Given the description of an element on the screen output the (x, y) to click on. 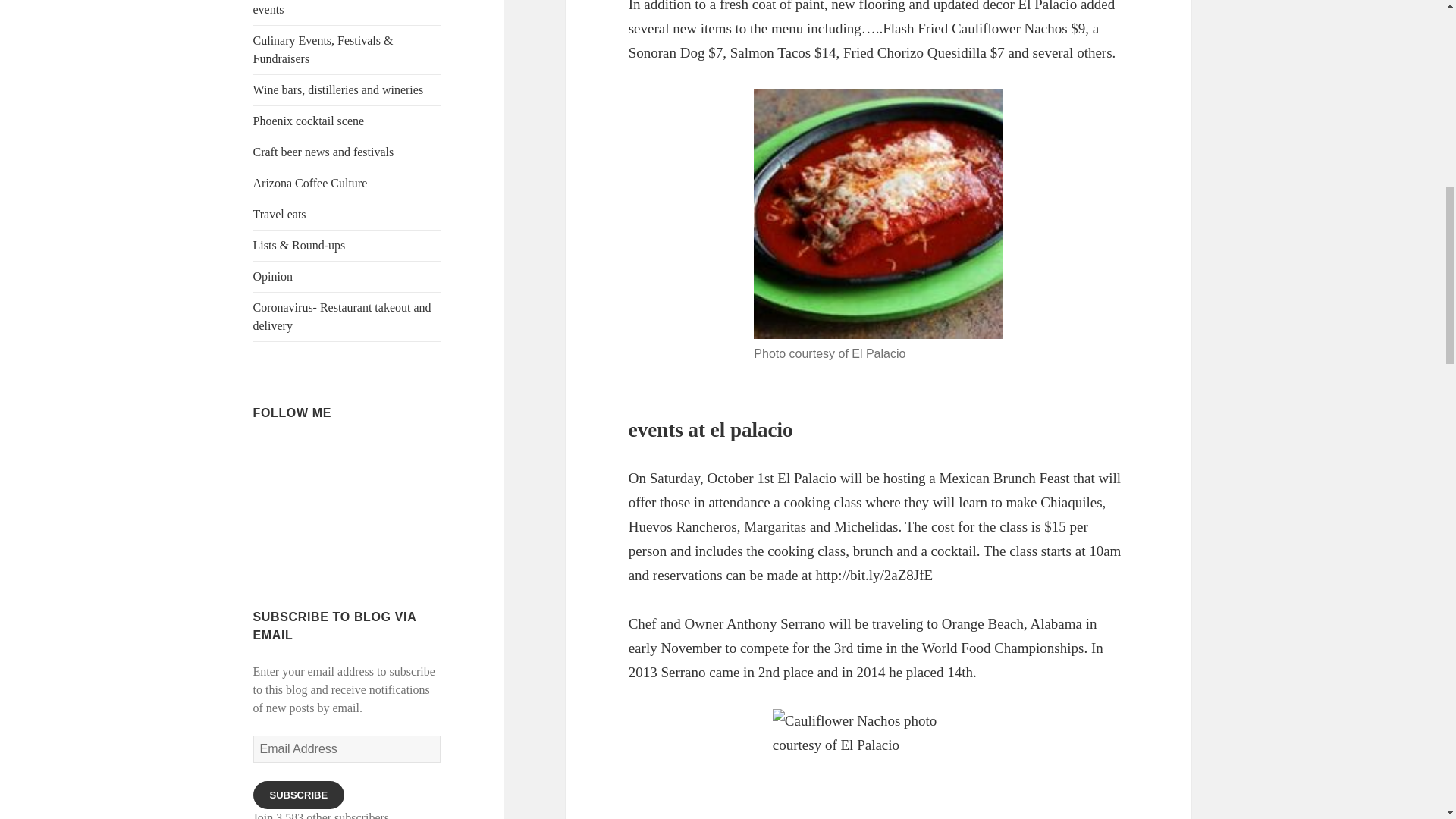
LinkedIn (346, 452)
Coronavirus- Restaurant takeout and delivery (347, 316)
Craft beer news and festivals (347, 152)
Wine bars, distilleries and wineries (347, 90)
Opinion (347, 276)
Facebook (292, 452)
Twitter (319, 452)
SUBSCRIBE (299, 795)
Phoenix cocktail scene (347, 121)
Travel eats (347, 214)
